Given the description of an element on the screen output the (x, y) to click on. 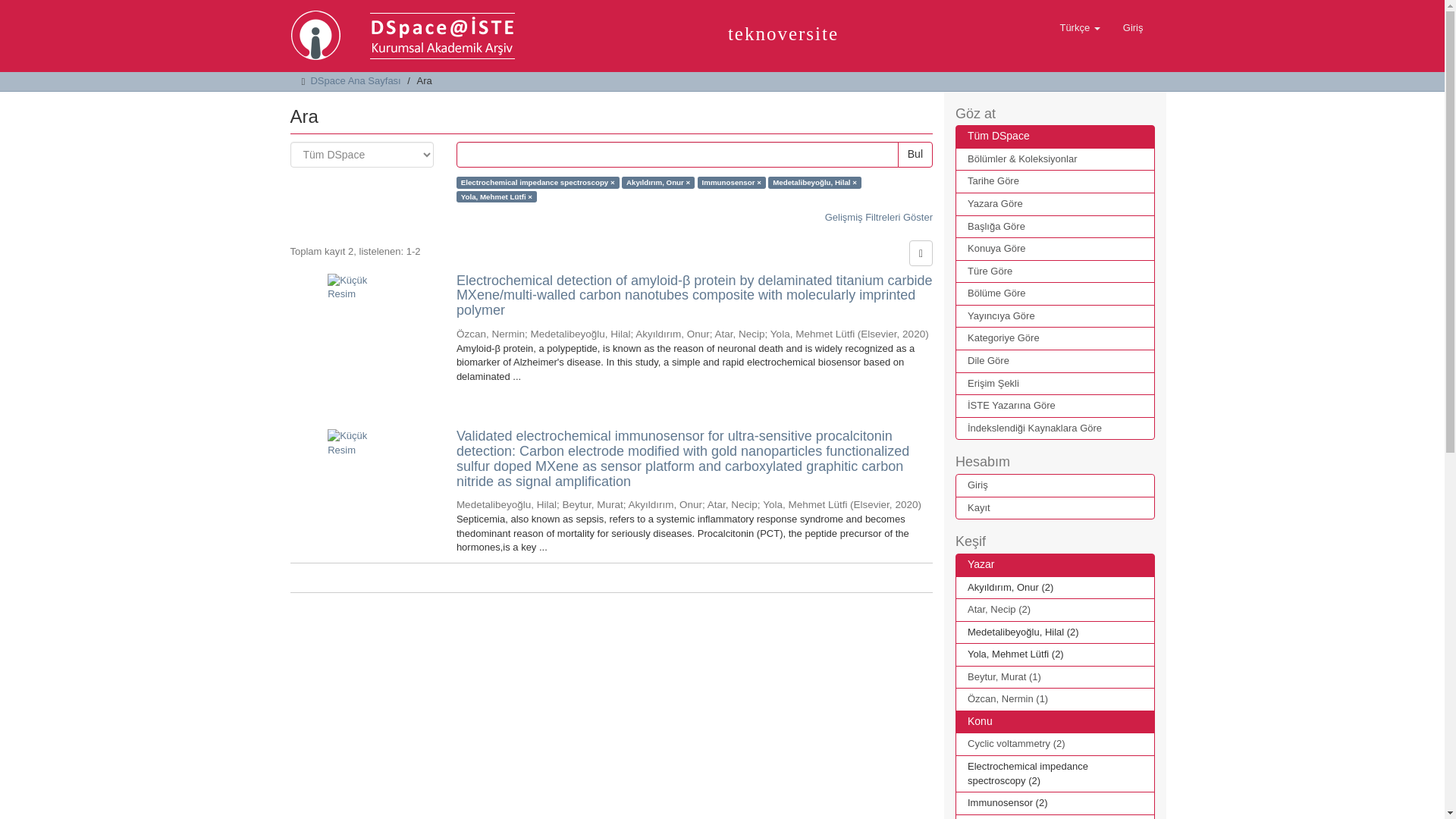
Bul (915, 154)
